Given the description of an element on the screen output the (x, y) to click on. 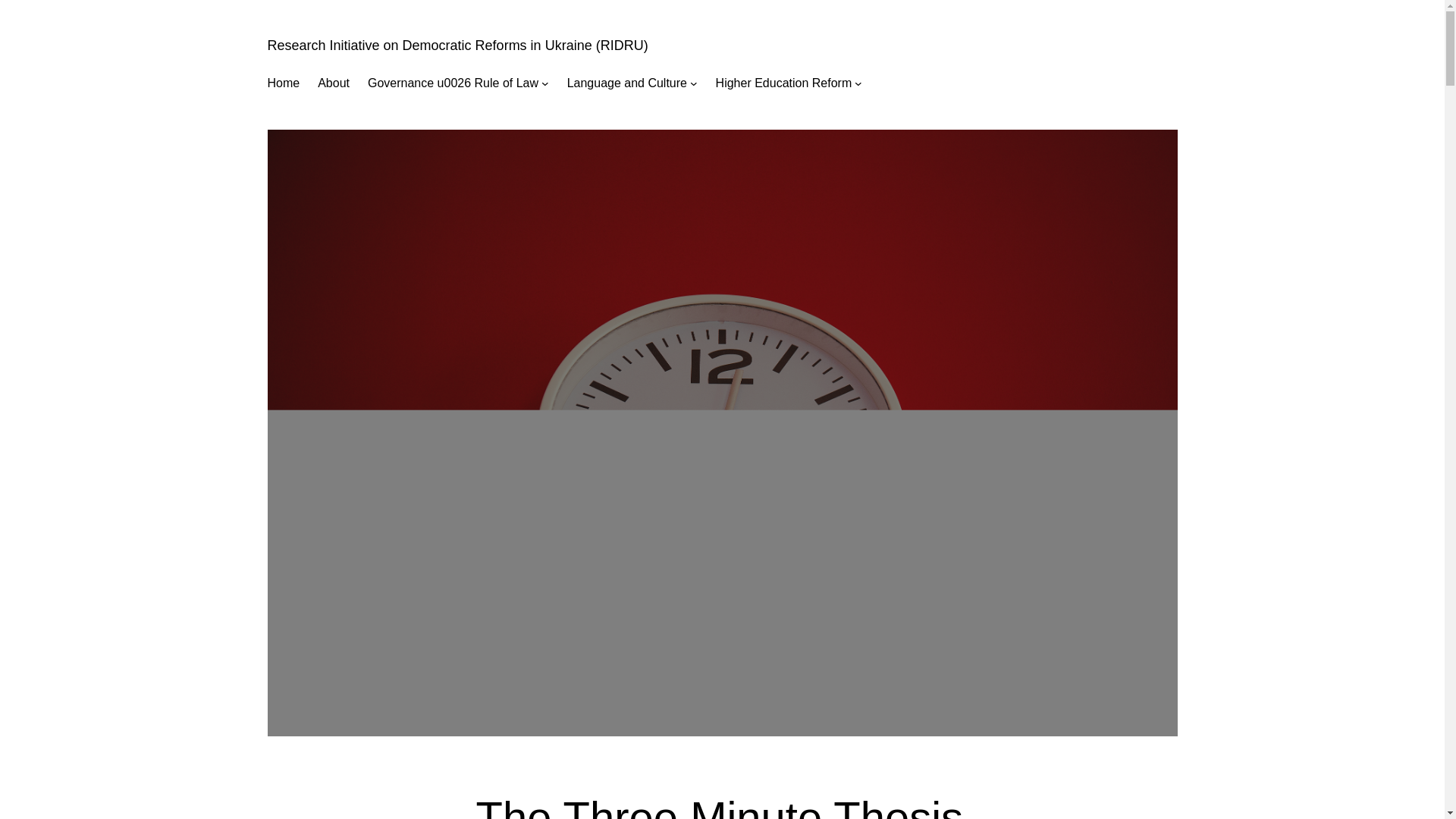
Higher Education Reform (783, 83)
Home (282, 83)
Language and Culture (627, 83)
Governance u0026 Rule of Law (453, 83)
Good Governance and the Rule of Law (453, 83)
About (333, 83)
Nationalities, Culture and Language Policies (627, 83)
